Given the description of an element on the screen output the (x, y) to click on. 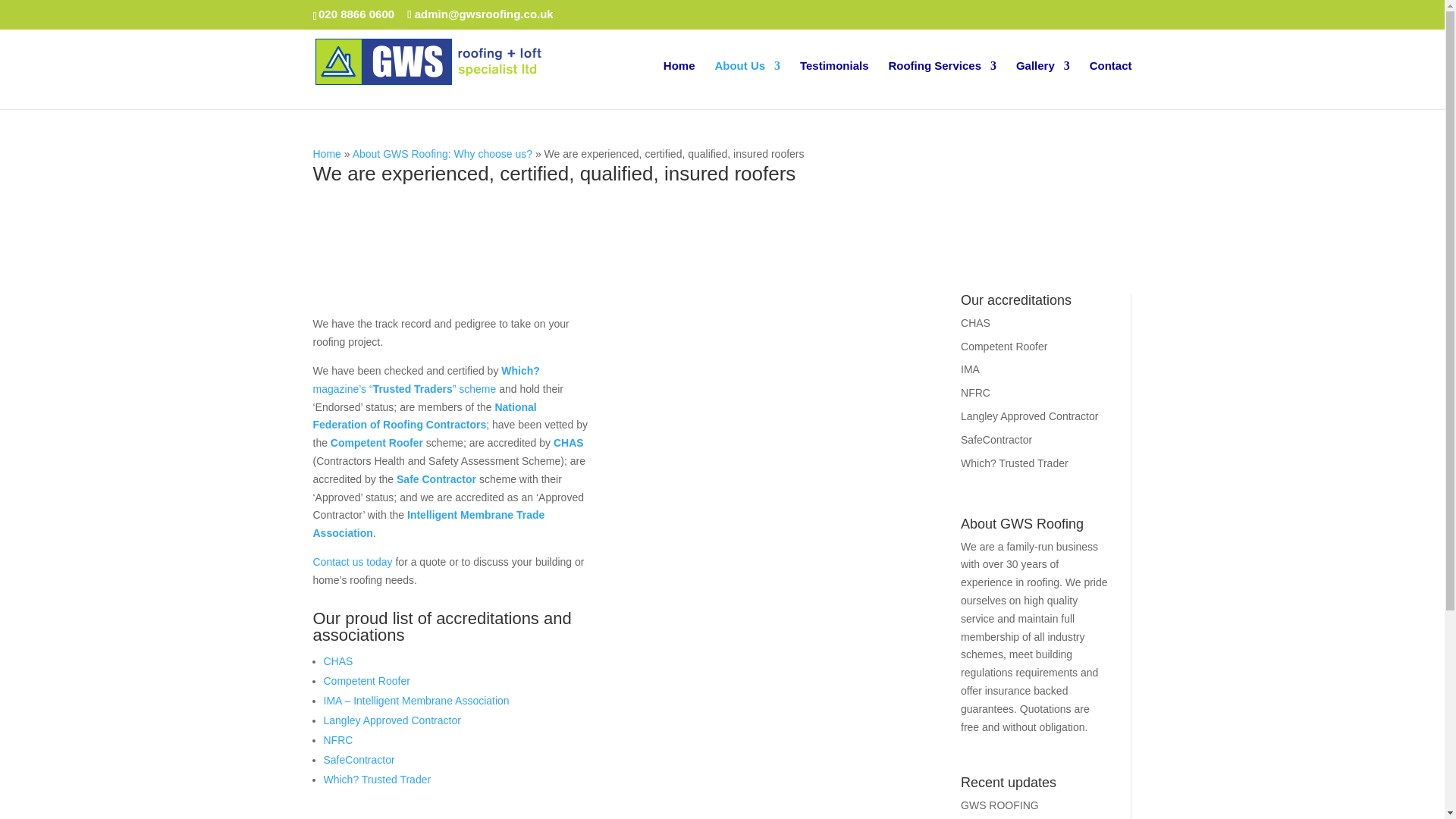
About Us (747, 84)
Competent Roofer (376, 442)
Intelligent Membrane Trade Association (428, 523)
Home (326, 153)
About GWS Roofing: Why choose us? (442, 153)
Safe Contractor (436, 479)
Contact us today (352, 562)
Testimonials (834, 84)
Roofing Services (941, 84)
National Federation of Roofing Contractors (424, 416)
